Given the description of an element on the screen output the (x, y) to click on. 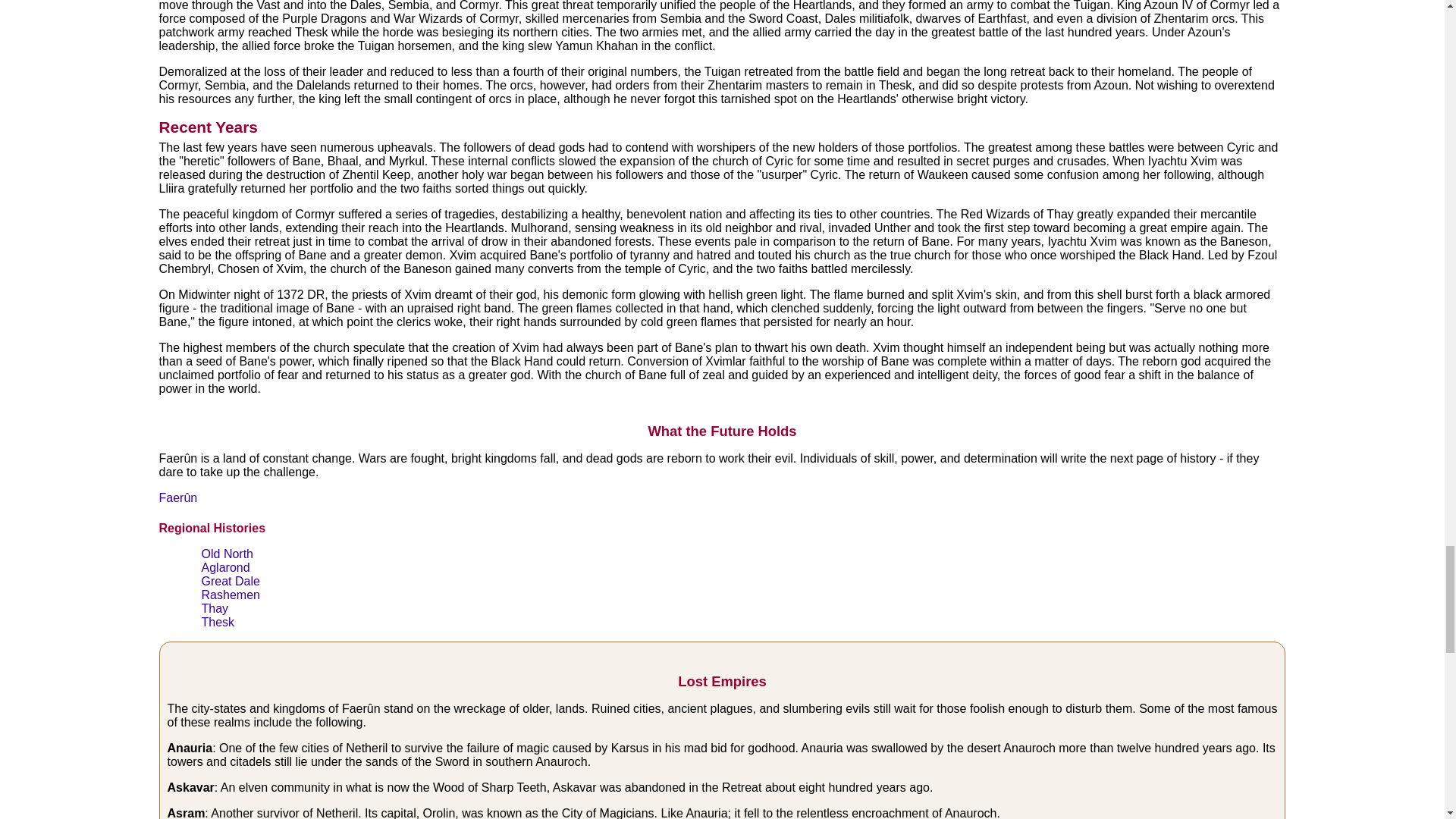
Great Dale (231, 581)
Thesk (218, 621)
Aglarond (226, 567)
Old North (227, 553)
Thay (215, 608)
Rashemen (231, 594)
